Given the description of an element on the screen output the (x, y) to click on. 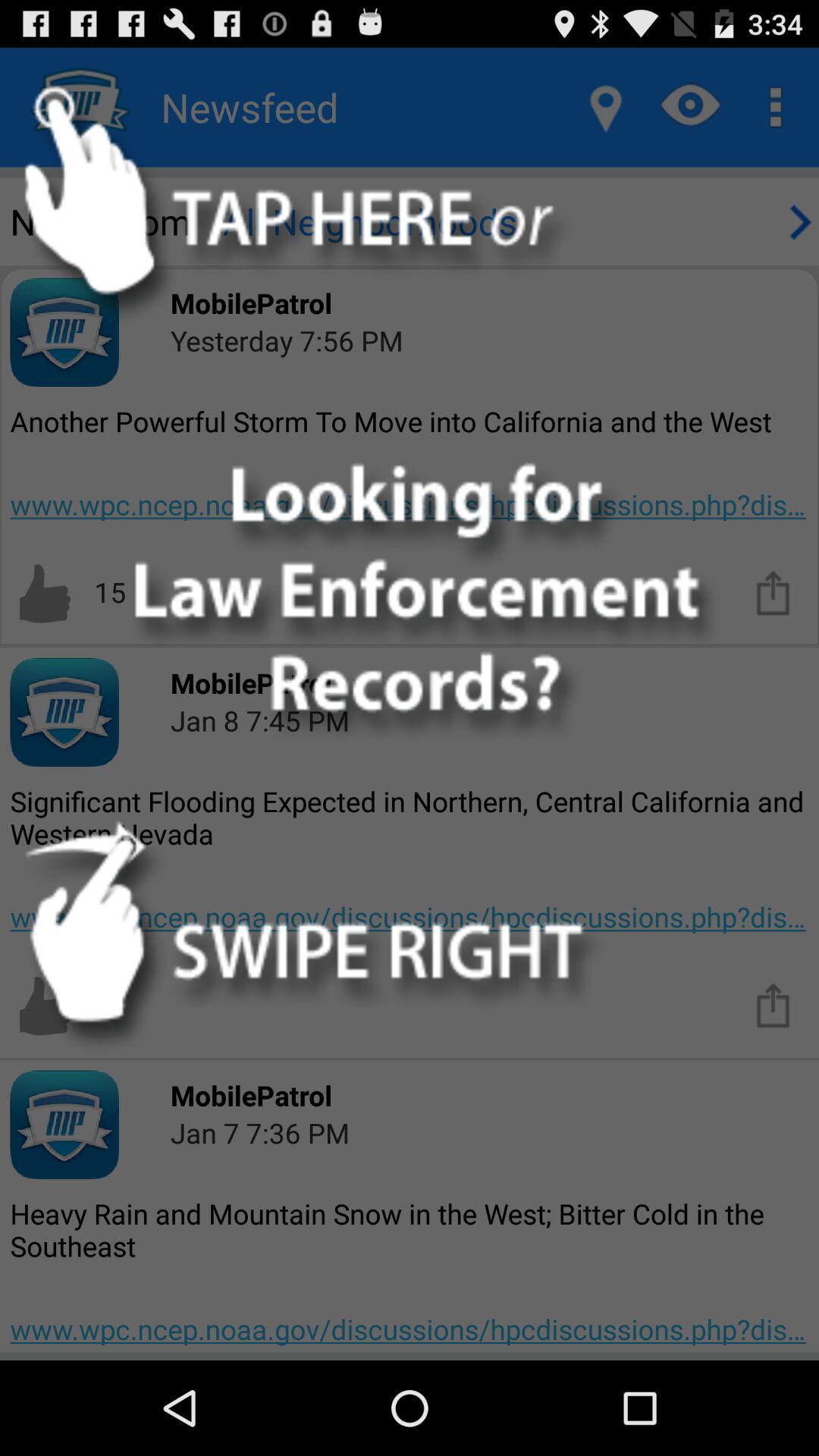
button send to (774, 1004)
